Given the description of an element on the screen output the (x, y) to click on. 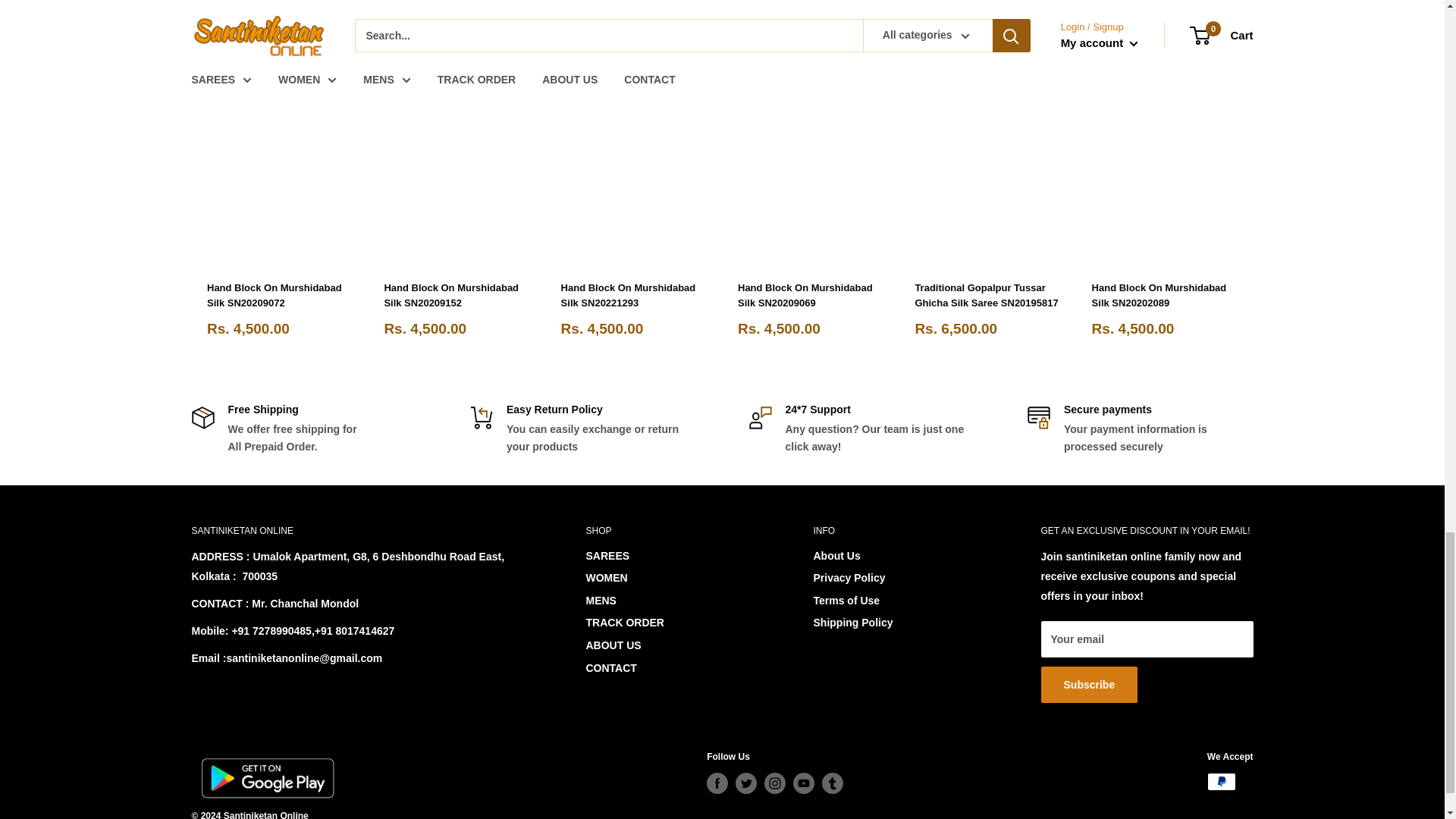
santiniketanonline (266, 777)
